Given the description of an element on the screen output the (x, y) to click on. 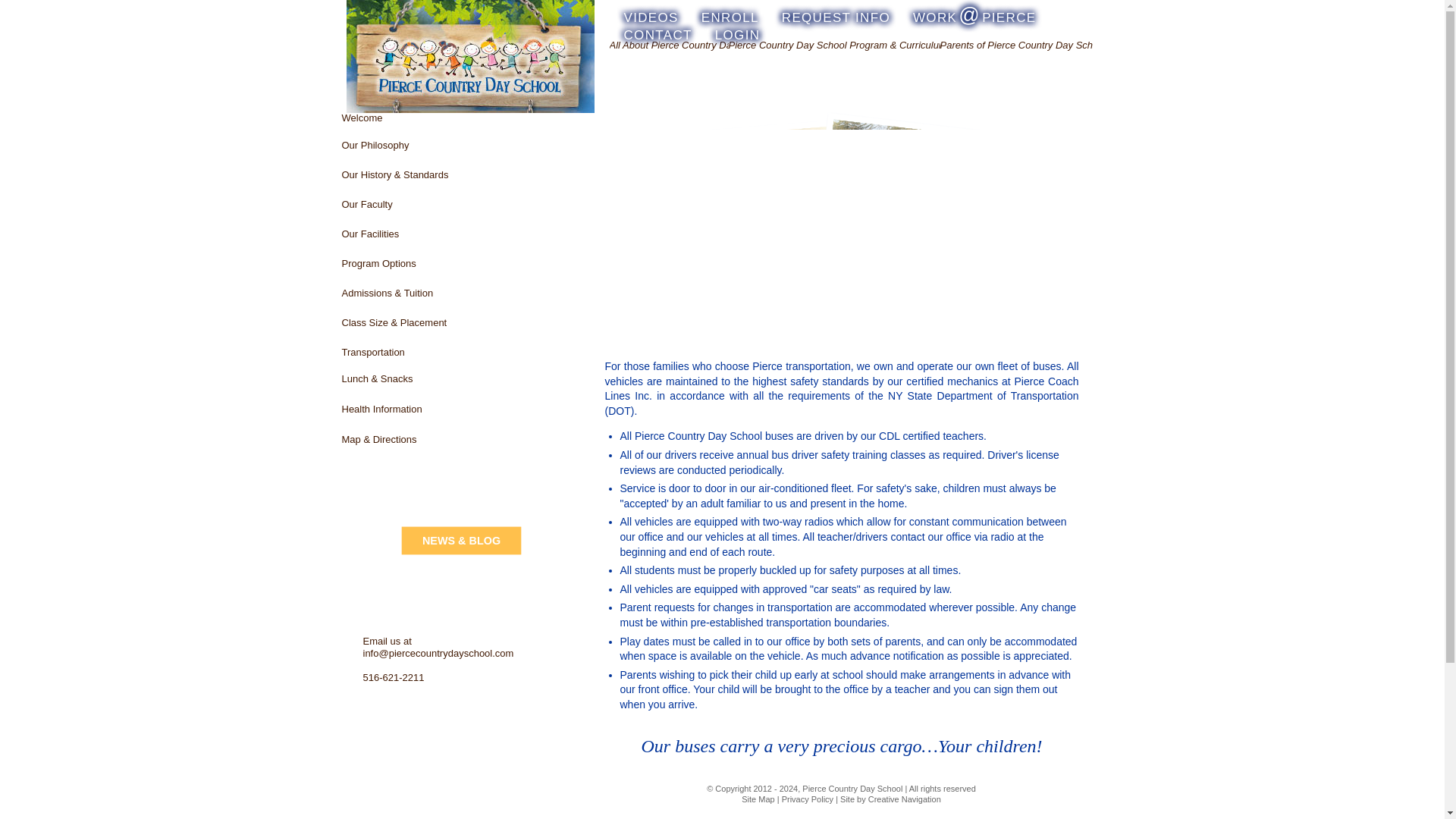
Parents of Pierce Country Day School (1016, 72)
LOGIN (731, 31)
Contact Pierce Country Day School in Roslyn New York (973, 14)
VIDEOS (651, 14)
Login to Family Day School Account (731, 31)
All About Pierce Country Day School (669, 72)
Program Options (456, 272)
Our Philosophy (456, 153)
Request Information about New York Day School (835, 14)
ENROLL (730, 14)
